Given the description of an element on the screen output the (x, y) to click on. 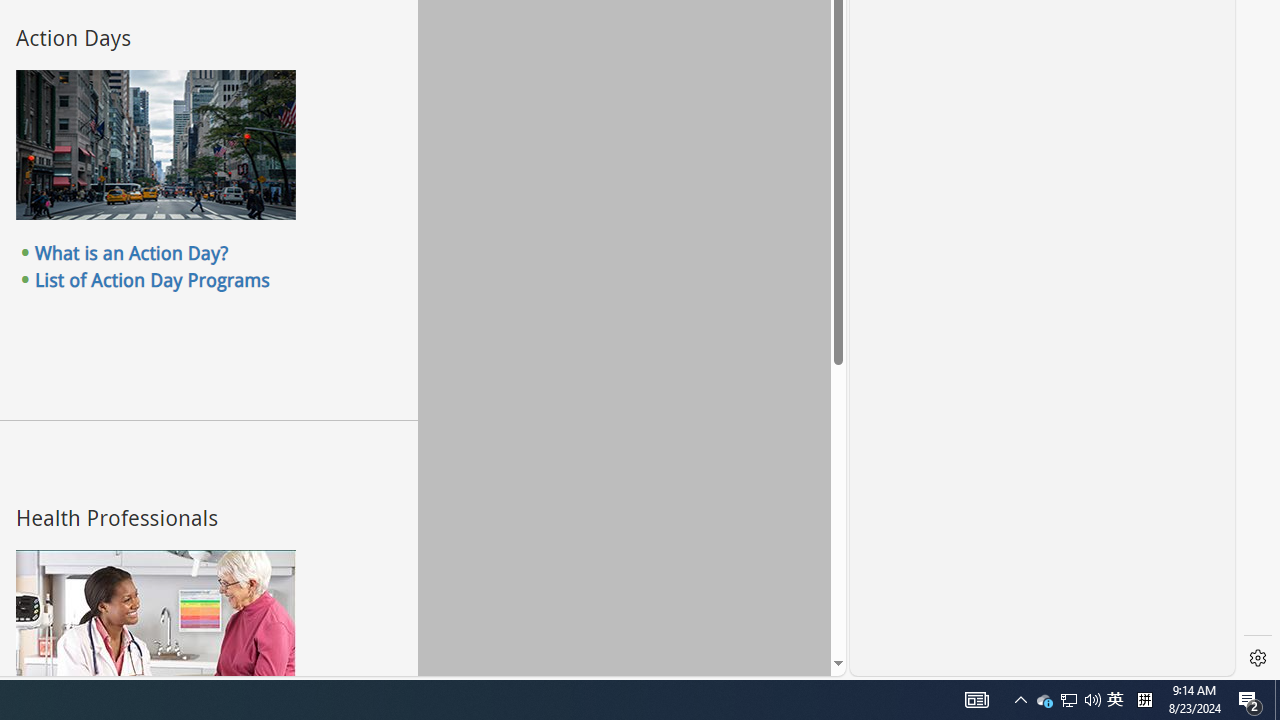
City traffic (155, 145)
List of Action Day Programs (152, 279)
What is an Action Day? (131, 253)
Health Professionals (155, 623)
Health Professionals (155, 623)
City traffic (155, 145)
